Given the description of an element on the screen output the (x, y) to click on. 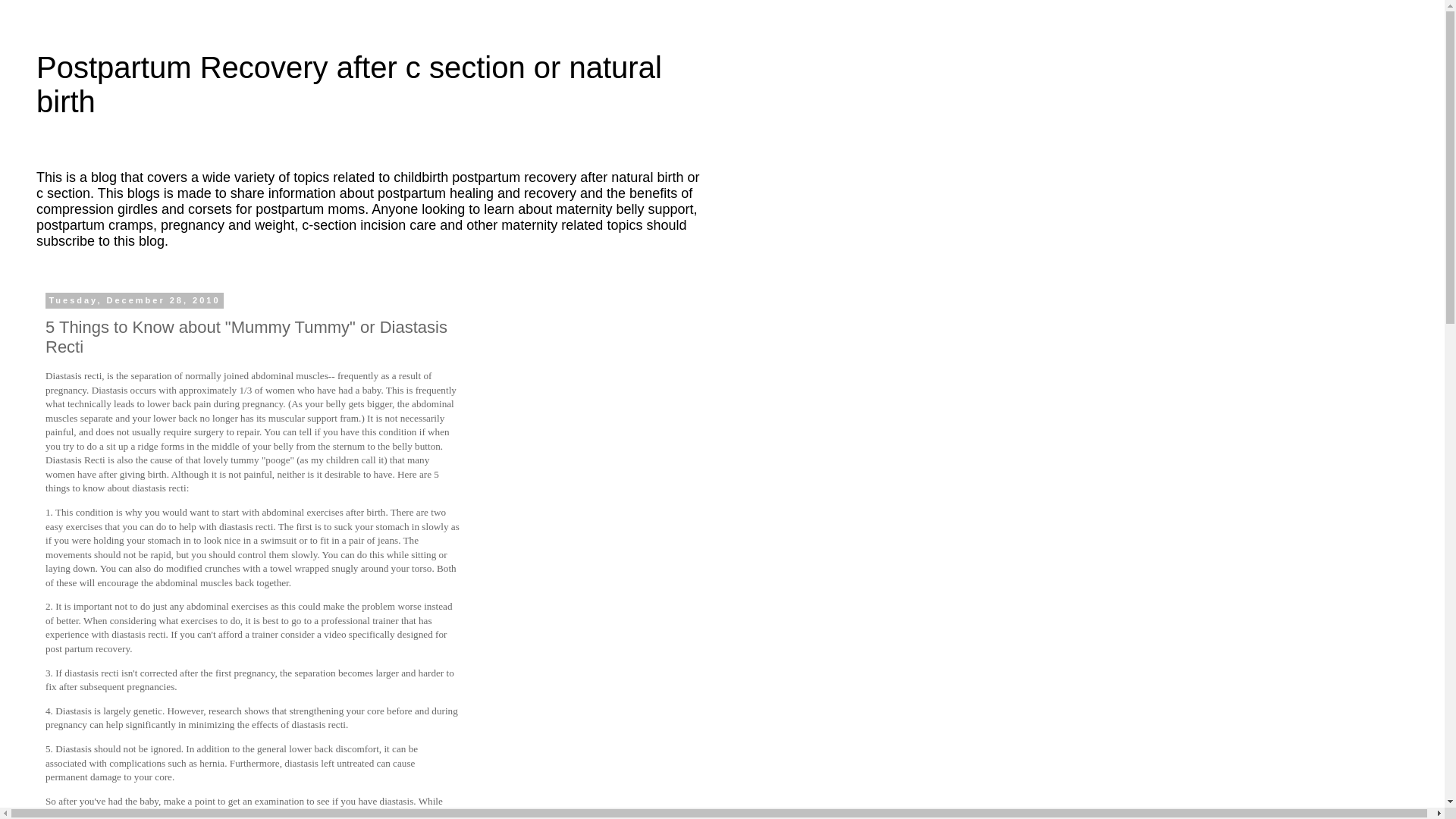
Postpartum Recovery after c section or natural birth (349, 83)
